Given the description of an element on the screen output the (x, y) to click on. 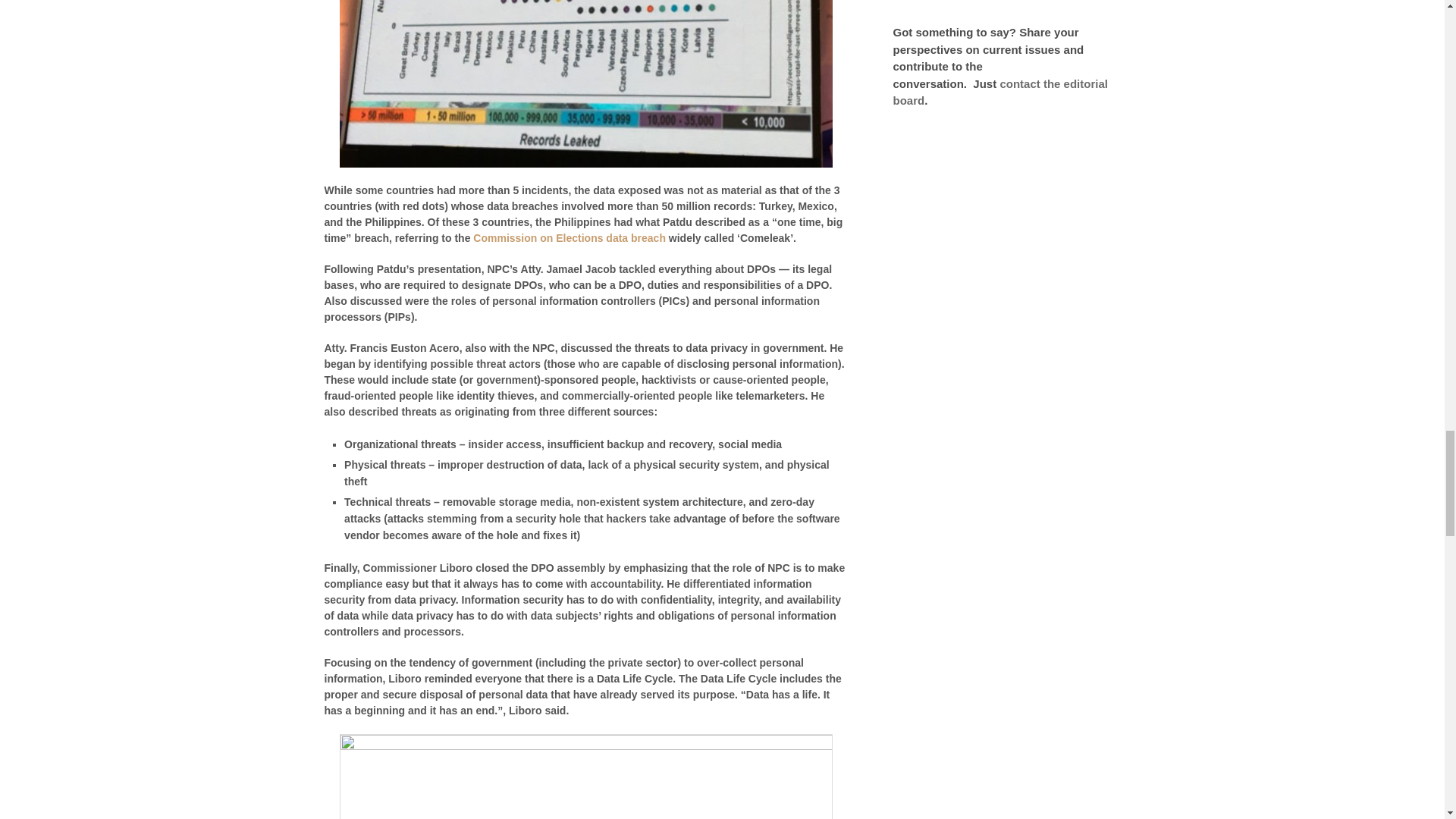
Commission on Elections data breach (569, 237)
